Given the description of an element on the screen output the (x, y) to click on. 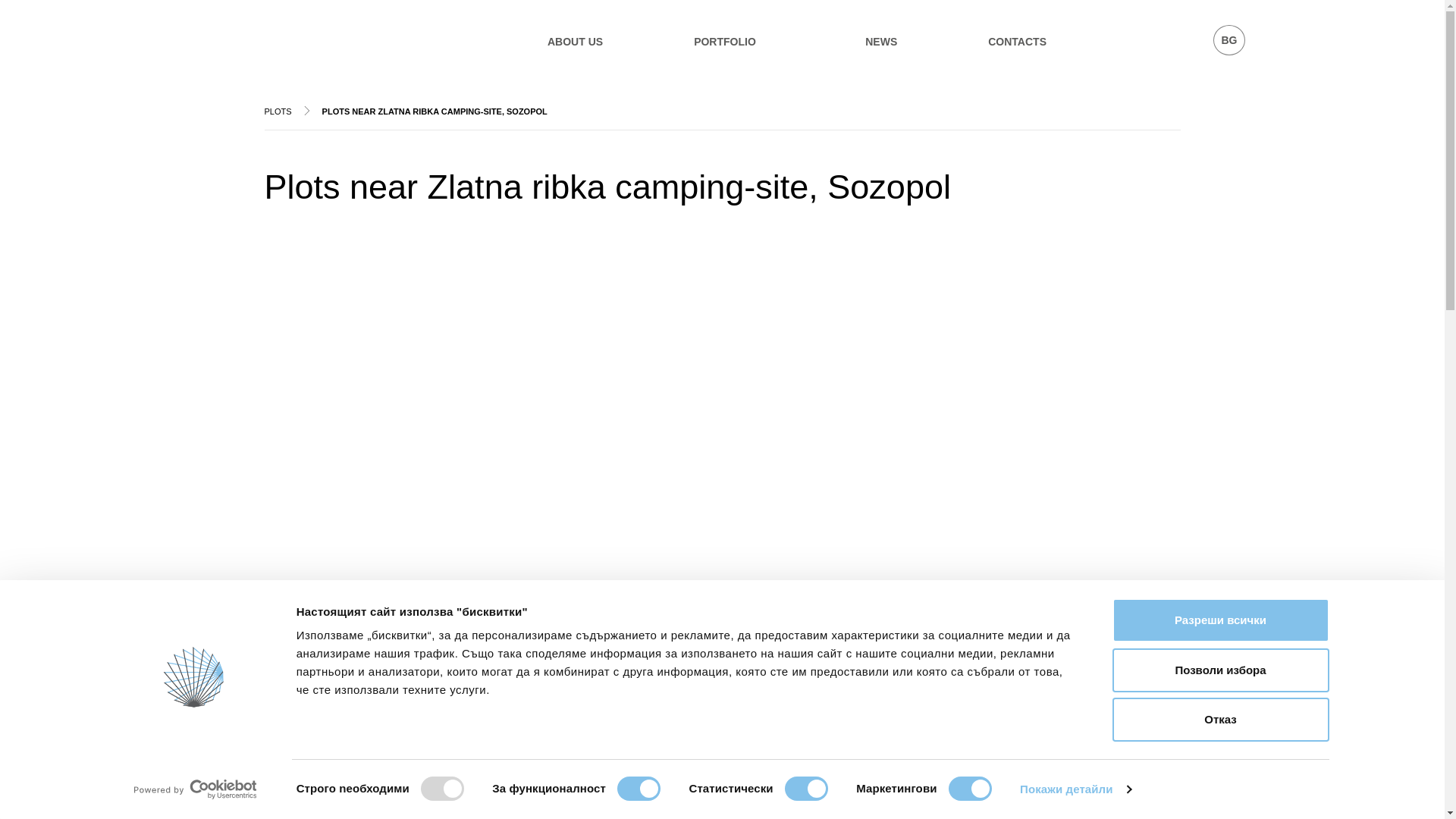
PORTFOLIO (724, 41)
Galaxy (267, 33)
ABOUT US (574, 41)
